Given the description of an element on the screen output the (x, y) to click on. 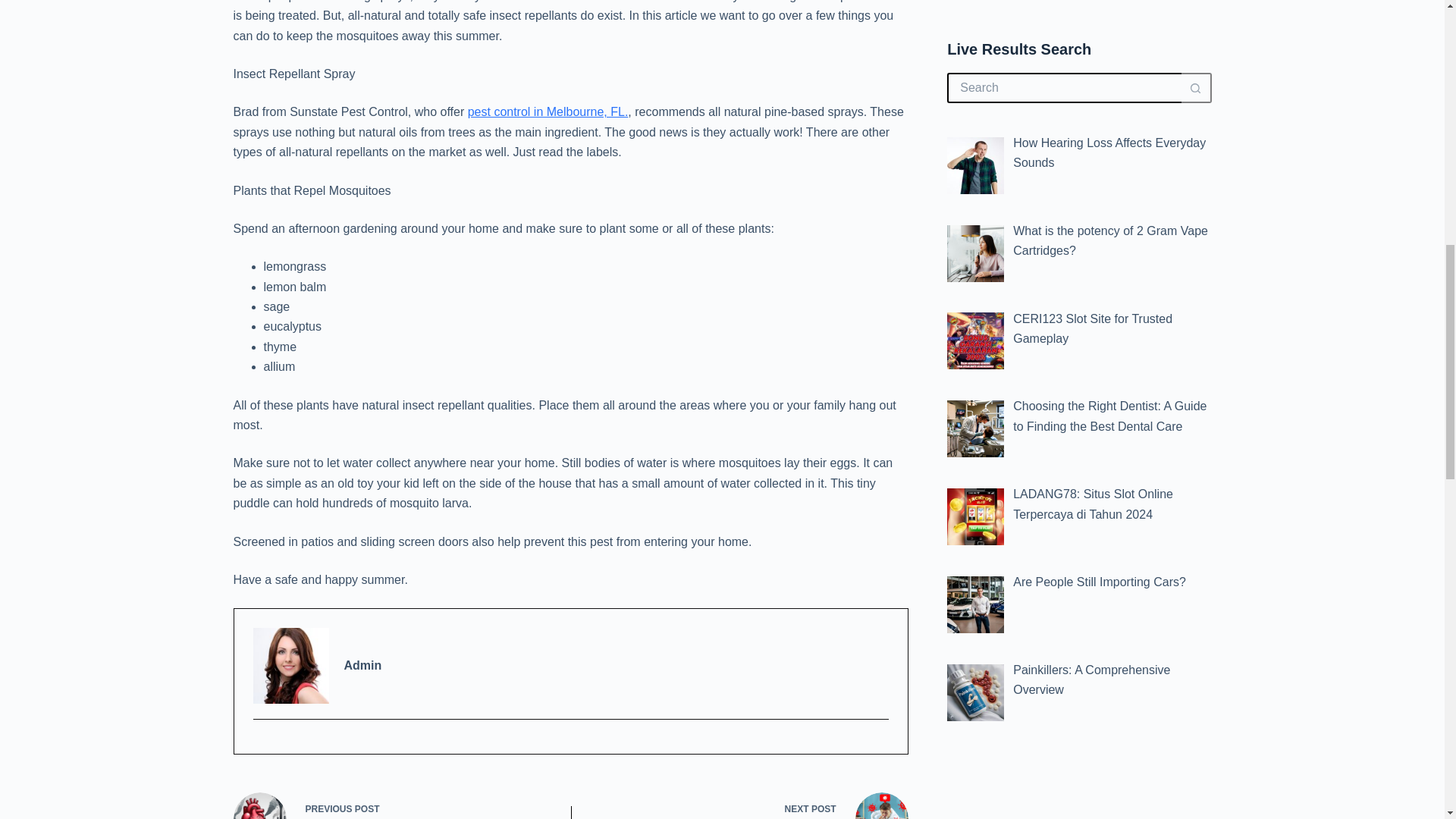
pest control in Melbourne, FL. (751, 805)
